Given the description of an element on the screen output the (x, y) to click on. 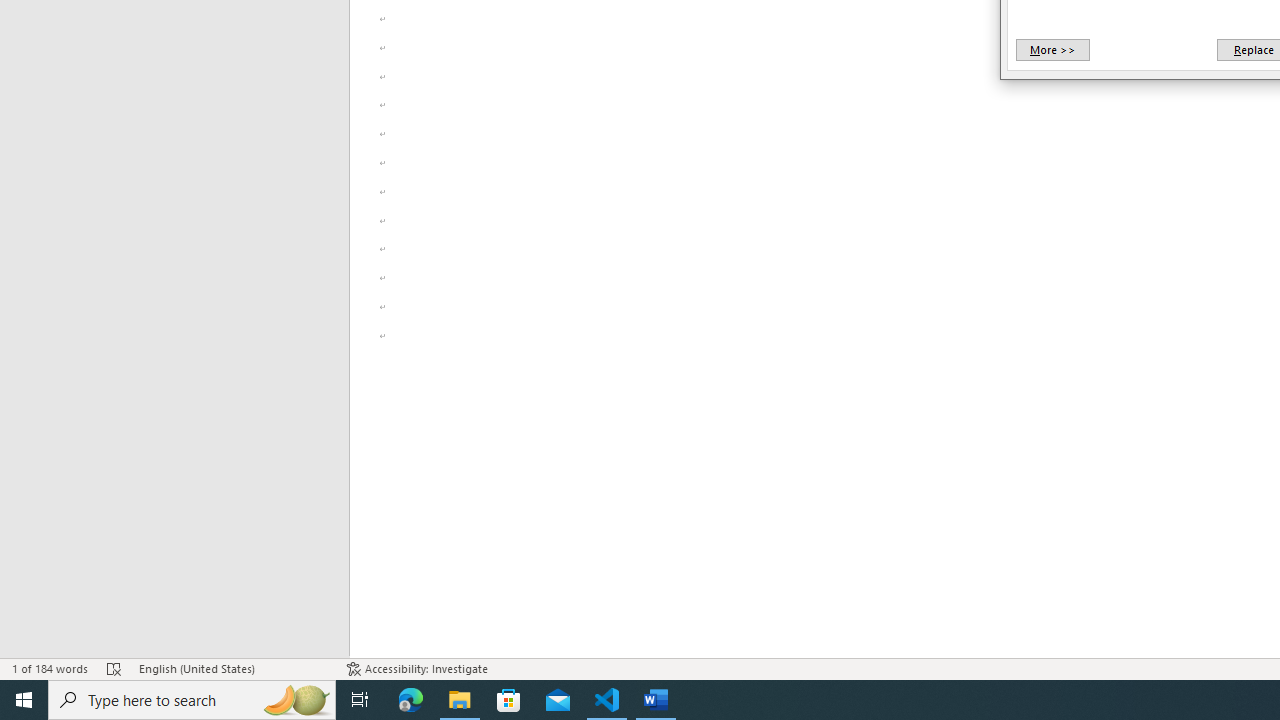
Task View (359, 699)
Type here to search (191, 699)
File Explorer - 1 running window (460, 699)
Accessibility Checker Accessibility: Investigate (417, 668)
Spelling and Grammar Check Errors (114, 668)
More >> (1052, 49)
Microsoft Store (509, 699)
Visual Studio Code - 1 running window (607, 699)
Start (24, 699)
Microsoft Edge (411, 699)
Word - 1 running window (656, 699)
Language English (United States) (232, 668)
Search highlights icon opens search home window (295, 699)
